Given the description of an element on the screen output the (x, y) to click on. 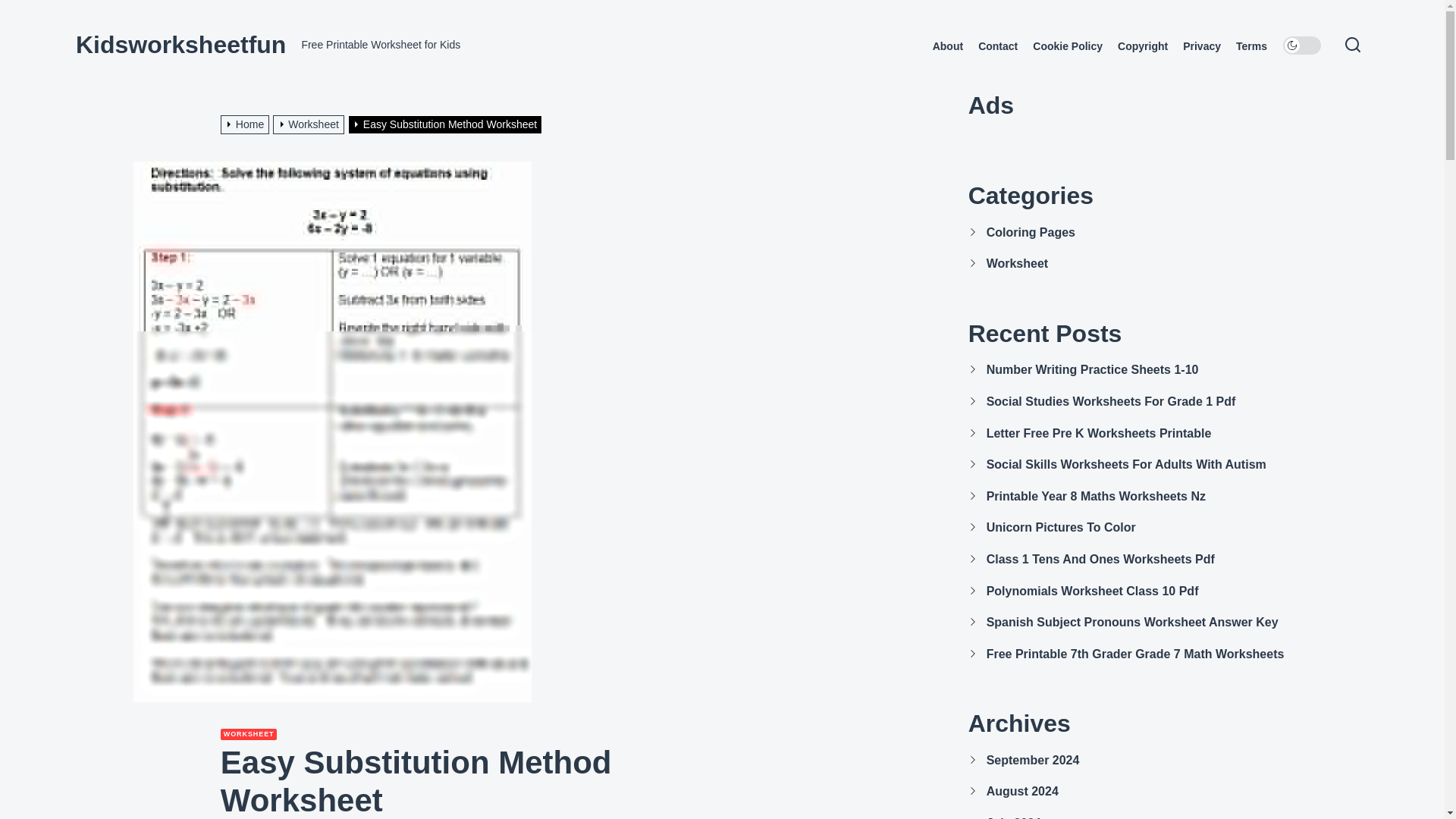
Terms (1251, 46)
About (947, 46)
Copyright (1142, 46)
Worksheet (310, 123)
Cookie Policy (1067, 46)
Privacy (1201, 46)
Kidsworksheetfun (180, 44)
Contact (997, 46)
Easy Substitution Method Worksheet (446, 123)
WORKSHEET (249, 734)
